Given the description of an element on the screen output the (x, y) to click on. 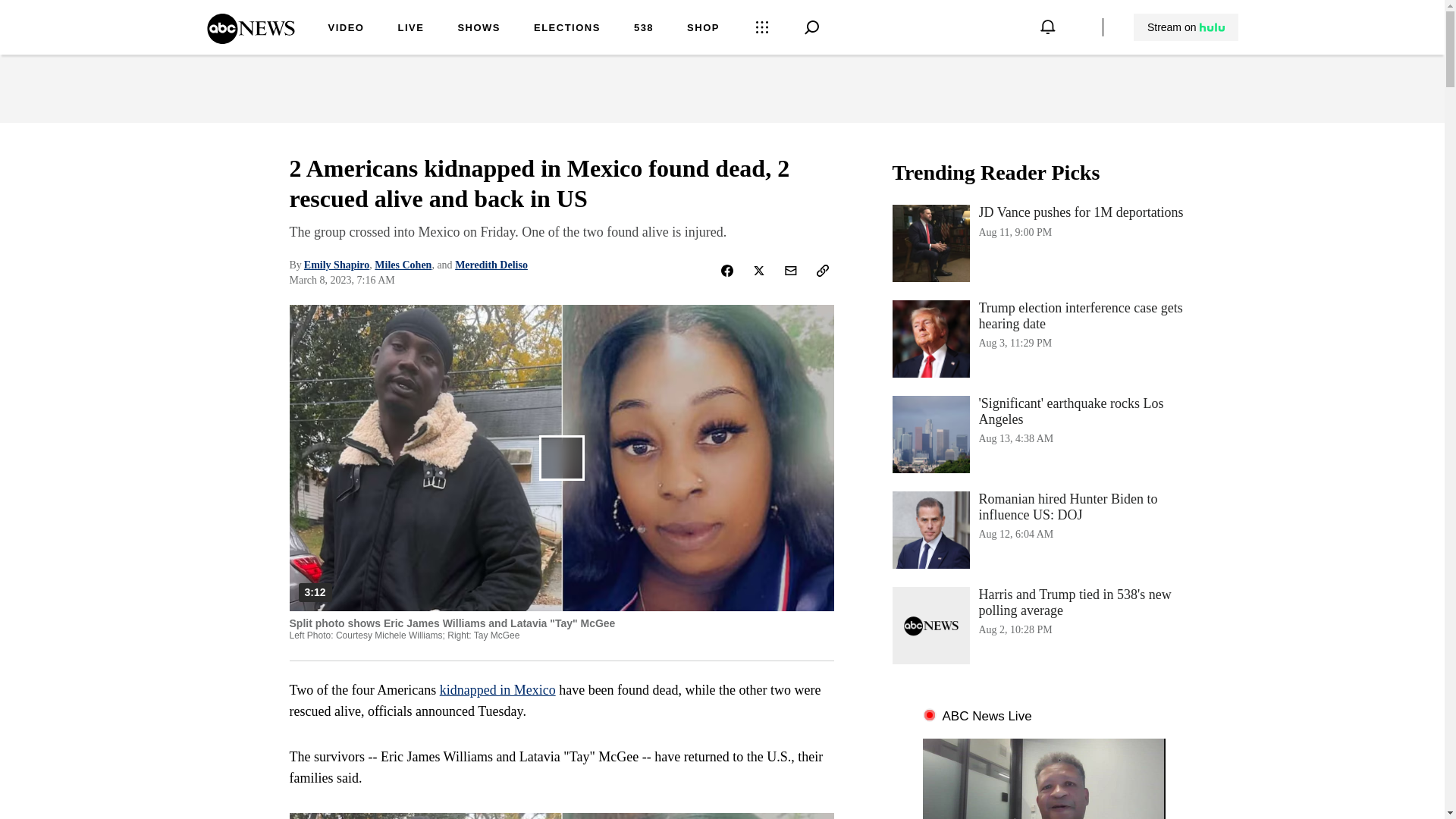
SHOP (703, 28)
LIVE (410, 28)
Miles Cohen (1043, 434)
ABC News (402, 265)
Stream on (1043, 242)
538 (250, 38)
